Given the description of an element on the screen output the (x, y) to click on. 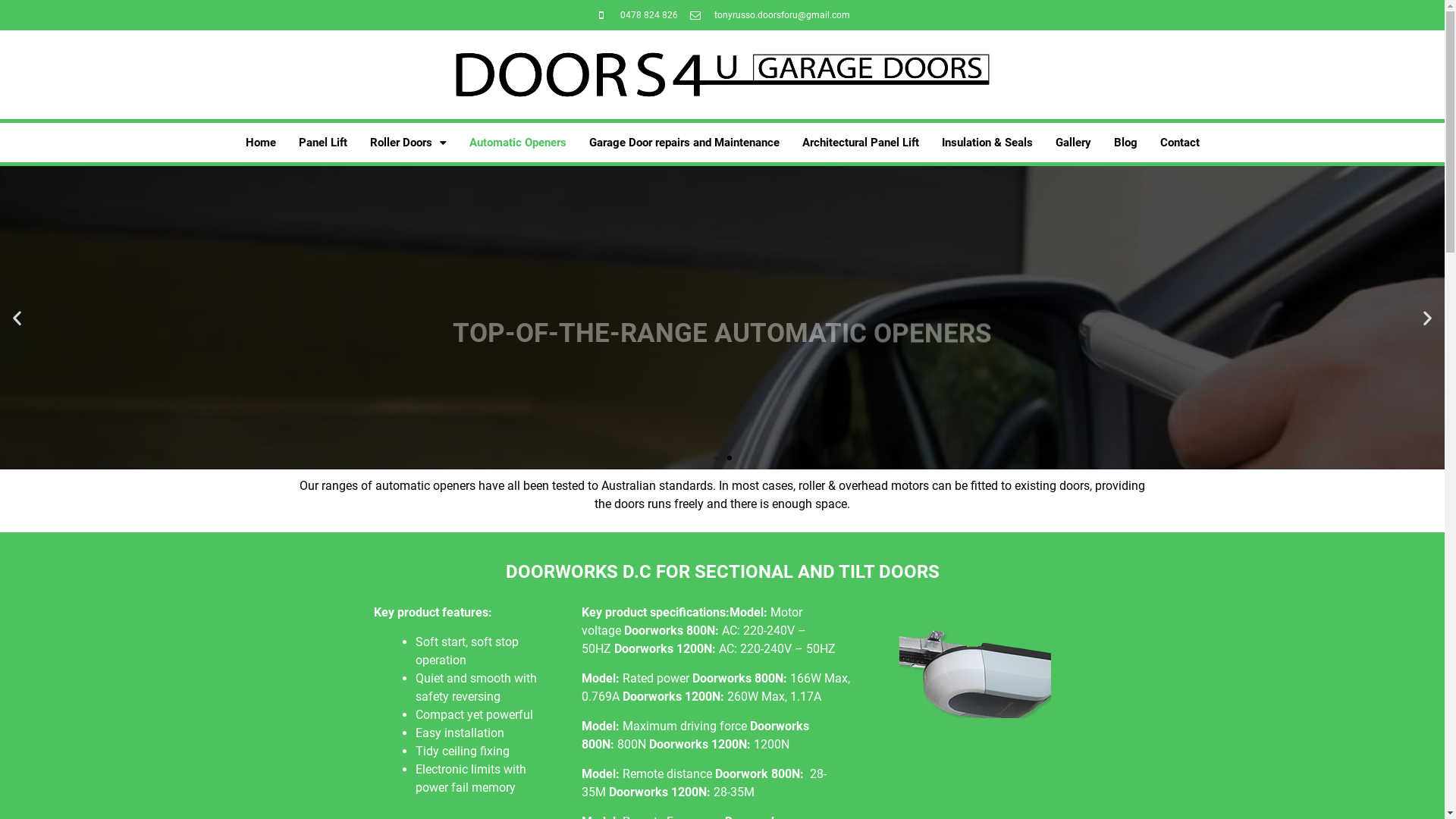
Insulation & Seals Element type: text (986, 142)
tonyrusso.doorsforu@gmail.com Element type: text (769, 15)
Automatic Openers - Element type: hover (975, 679)
Automatic Openers Element type: text (517, 142)
Architectural Panel Lift Element type: text (859, 142)
Contact Element type: text (1179, 142)
Panel Lift Element type: text (321, 142)
Gallery Element type: text (1072, 142)
Home Element type: text (259, 142)
Blog Element type: text (1125, 142)
Garage Door repairs and Maintenance Element type: text (683, 142)
0478 824 826 Element type: text (635, 15)
Roller Doors Element type: text (407, 142)
